Given the description of an element on the screen output the (x, y) to click on. 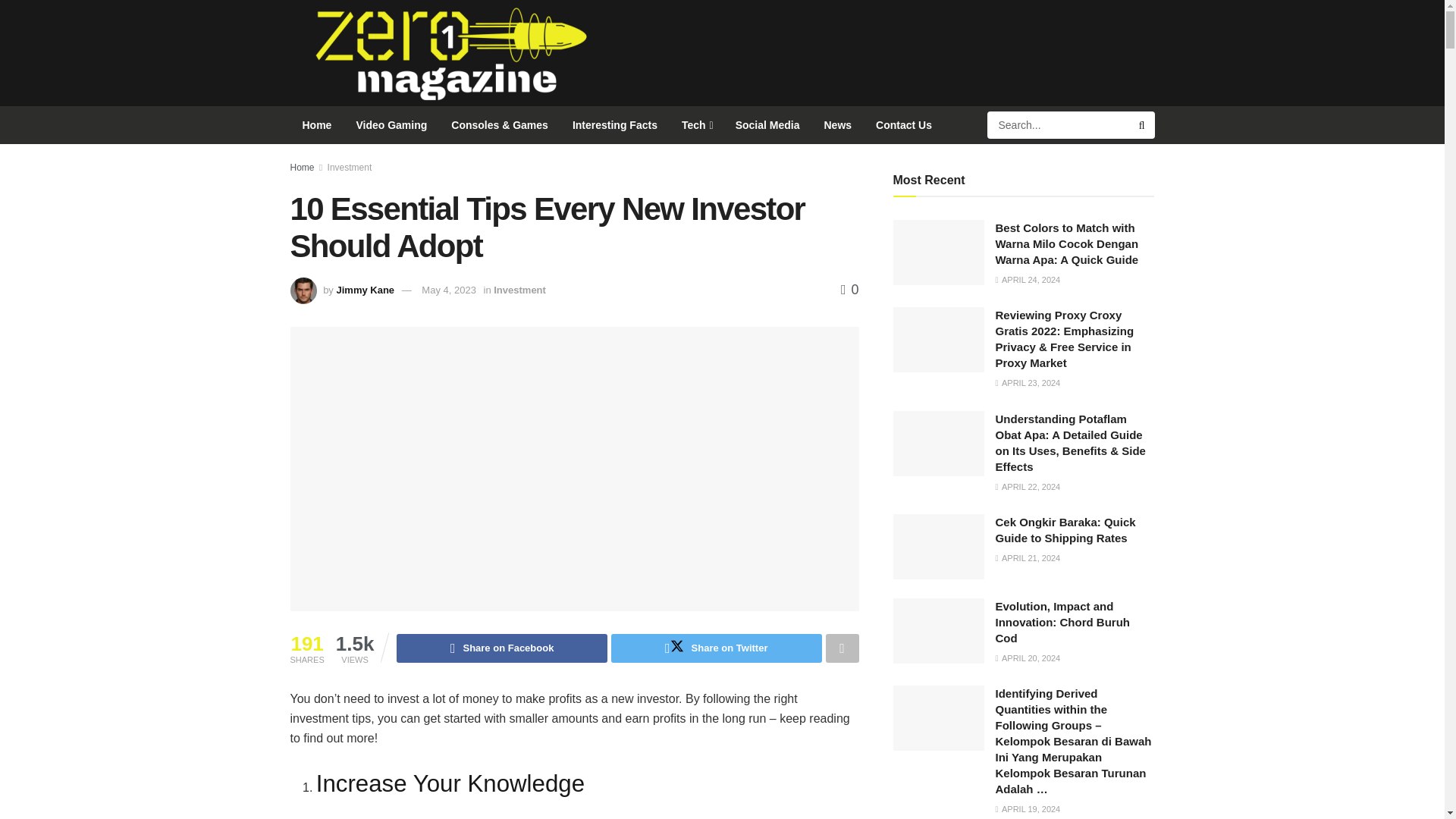
Video Gaming (391, 125)
Investment (349, 167)
Share on Twitter (716, 647)
Home (301, 167)
Social Media (767, 125)
Investment (519, 289)
Interesting Facts (614, 125)
0 (850, 289)
Tech (696, 125)
Home (316, 125)
